Given the description of an element on the screen output the (x, y) to click on. 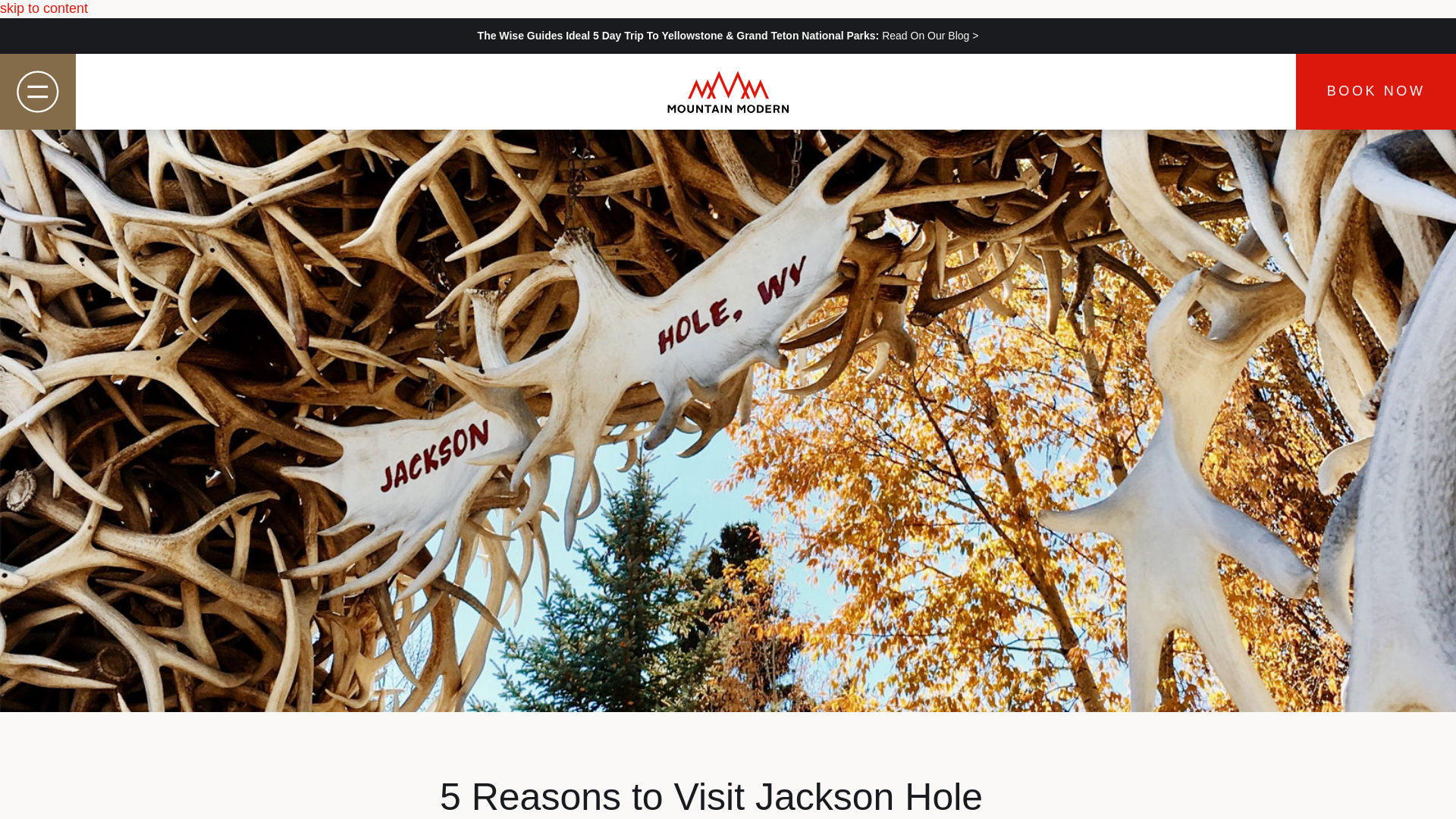
Basecamp (427, 296)
  Specials (409, 396)
Mountain Modern (727, 91)
Destination (432, 346)
  Contact (402, 497)
  Groups (399, 447)
skip to content (43, 7)
